Given the description of an element on the screen output the (x, y) to click on. 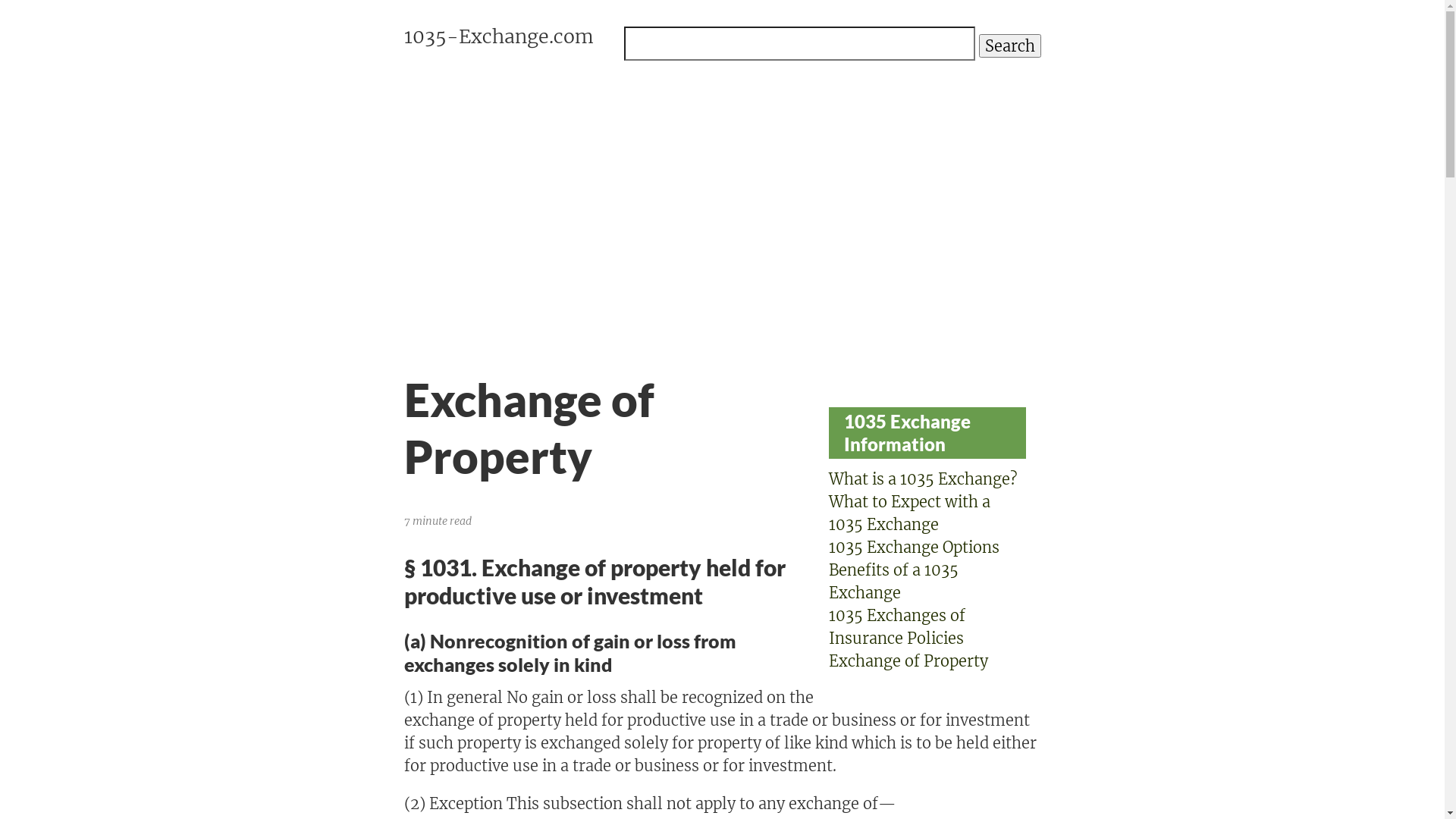
Search Element type: text (1009, 45)
1035-Exchange.com Element type: text (498, 36)
What is a 1035 Exchange? Element type: text (922, 478)
What to Expect with a 1035 Exchange Element type: text (908, 512)
Benefits of a 1035 Exchange Element type: text (892, 581)
Exchange of Property Element type: text (907, 660)
Advertisement Element type: hover (721, 197)
1035 Exchange Options Element type: text (913, 546)
1035 Exchanges of Insurance Policies Element type: text (896, 626)
